Given the description of an element on the screen output the (x, y) to click on. 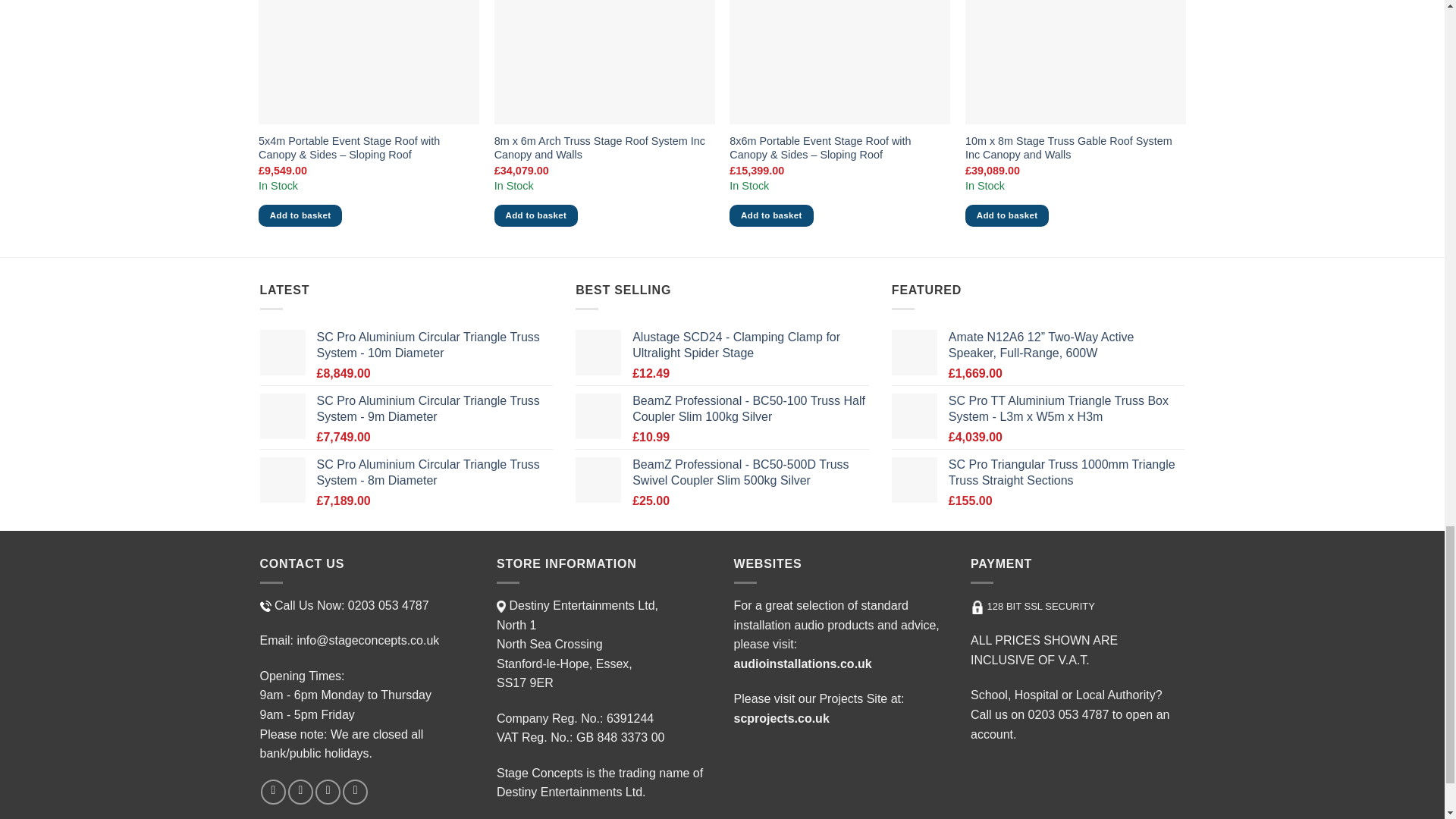
Send us an email (300, 791)
Follow on Facebook (272, 791)
Follow on LinkedIn (355, 791)
Call us (327, 791)
